Given the description of an element on the screen output the (x, y) to click on. 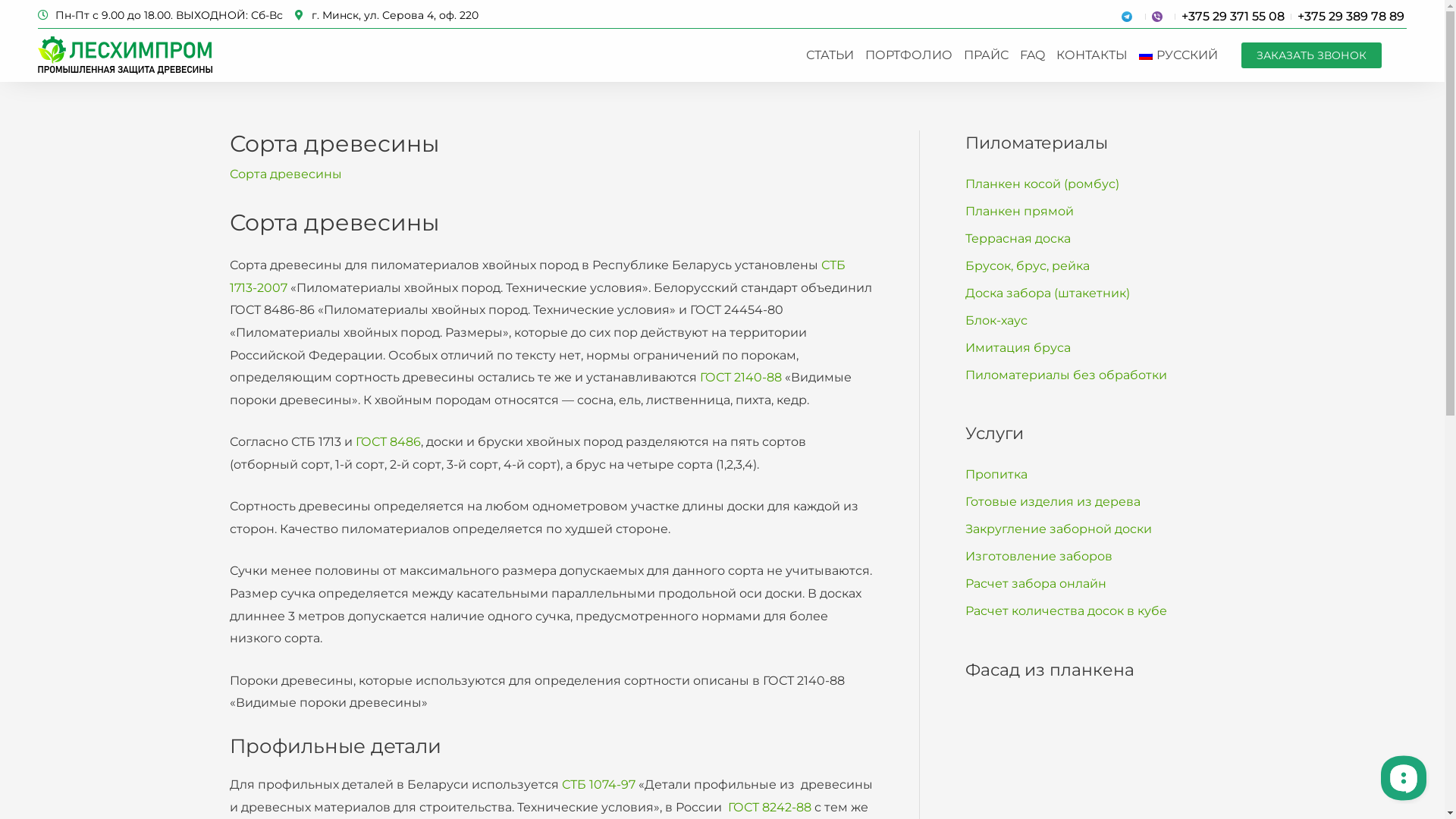
+375 29 371 55 08 Element type: text (1232, 16)
FAQ Element type: text (1032, 54)
__replain_widget_iframe Element type: hover (1402, 776)
+375 29 389 78 89 Element type: text (1350, 16)
